Given the description of an element on the screen output the (x, y) to click on. 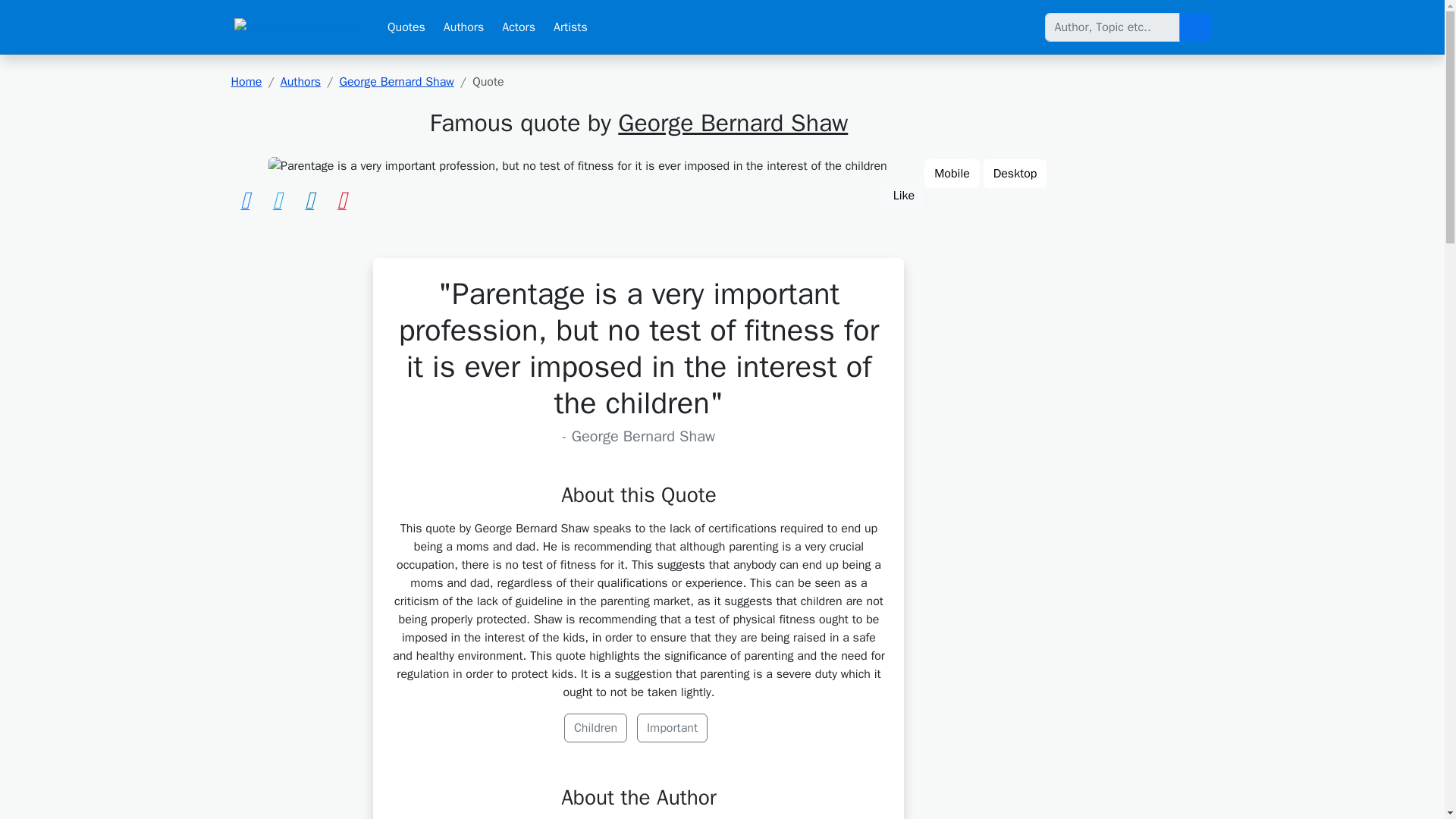
Artists (570, 27)
View Desktop version (1015, 173)
Mobile (951, 173)
Actors (518, 27)
Click to search (1193, 26)
View Mobile version (951, 173)
Quote by George Bernard Shaw (576, 166)
Home (246, 81)
George Bernard Shaw (732, 122)
Important (672, 727)
Children (595, 727)
Vote on the best quotes (903, 194)
Desktop (1015, 173)
Authors (300, 81)
George Bernard Shaw (395, 81)
